Given the description of an element on the screen output the (x, y) to click on. 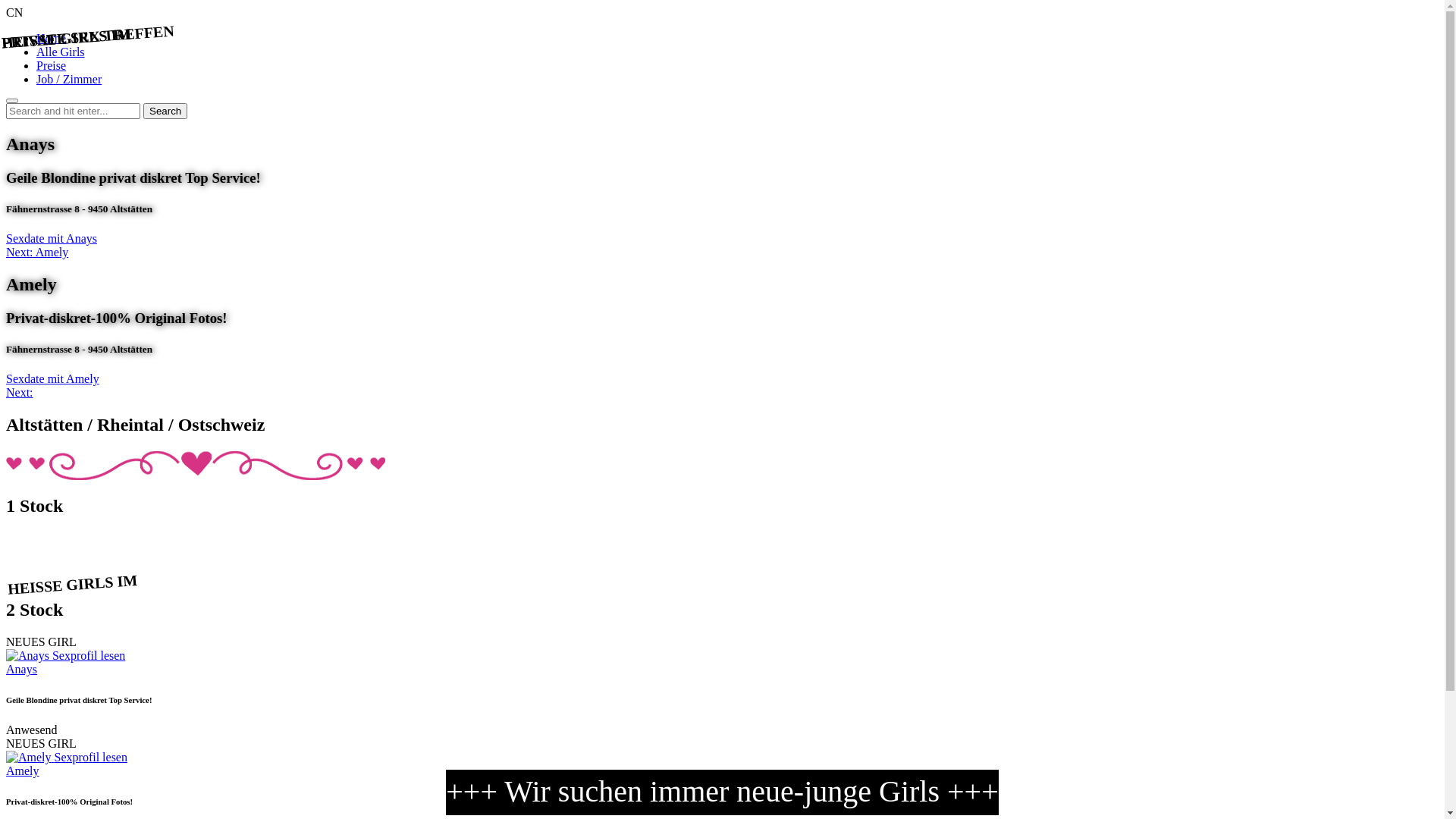
Next: Amely Element type: text (37, 251)
Sexdate mit Amely Element type: text (52, 378)
Sexprofil lesen Element type: text (88, 655)
Amely Element type: text (22, 770)
Anays Element type: text (21, 668)
Next: Element type: text (19, 391)
Job / Zimmer Element type: text (68, 78)
Sexprofil lesen Element type: text (90, 756)
Alle Girls Element type: text (60, 51)
Preise Element type: text (50, 65)
Search Element type: text (165, 111)
Home Element type: text (50, 37)
Sexdate mit Anays Element type: text (51, 238)
